Given the description of an element on the screen output the (x, y) to click on. 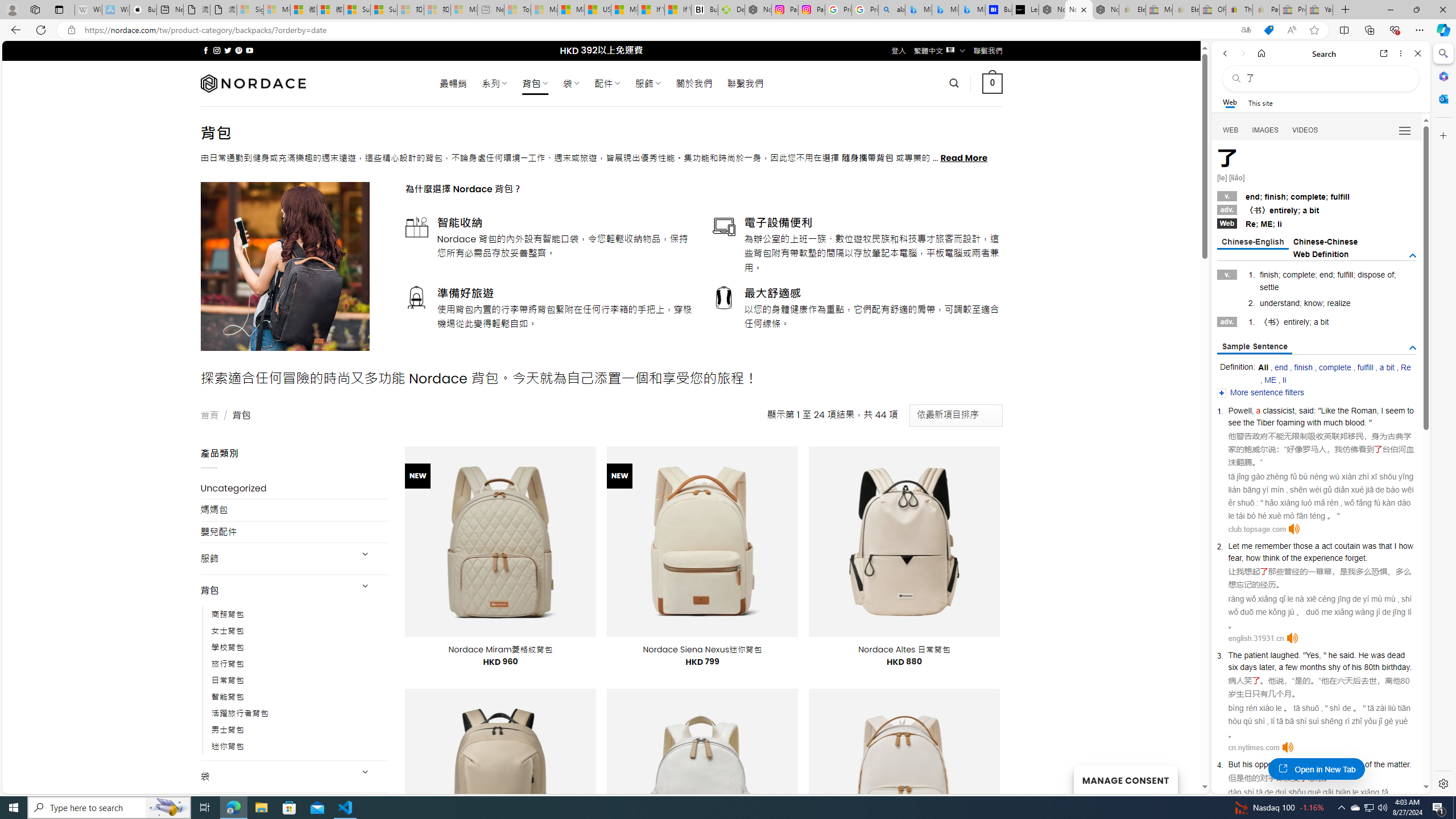
Roman (1364, 410)
Click to listen (1286, 747)
Yes (1312, 655)
